Given the description of an element on the screen output the (x, y) to click on. 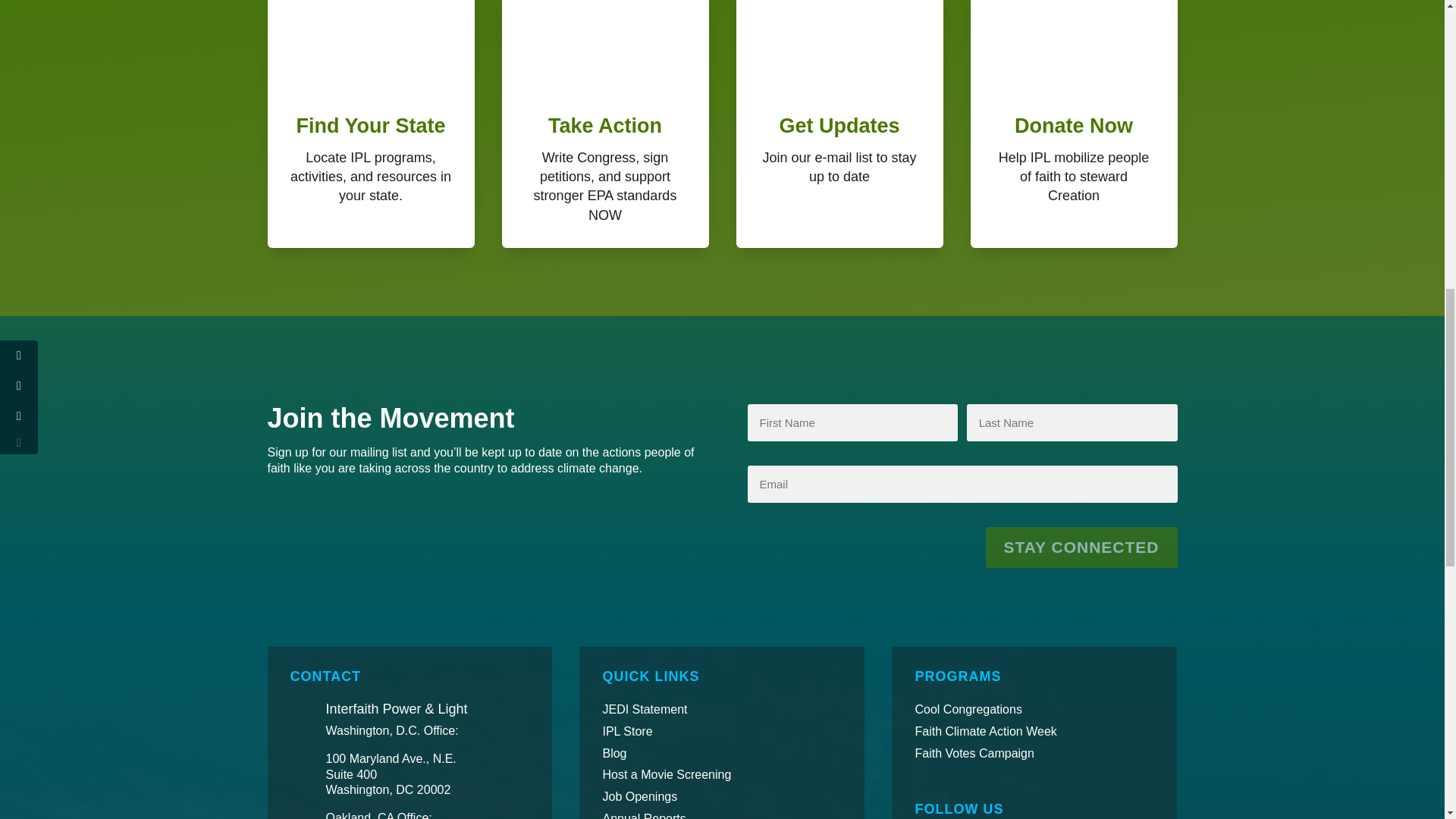
Stay Connected (1081, 547)
